Given the description of an element on the screen output the (x, y) to click on. 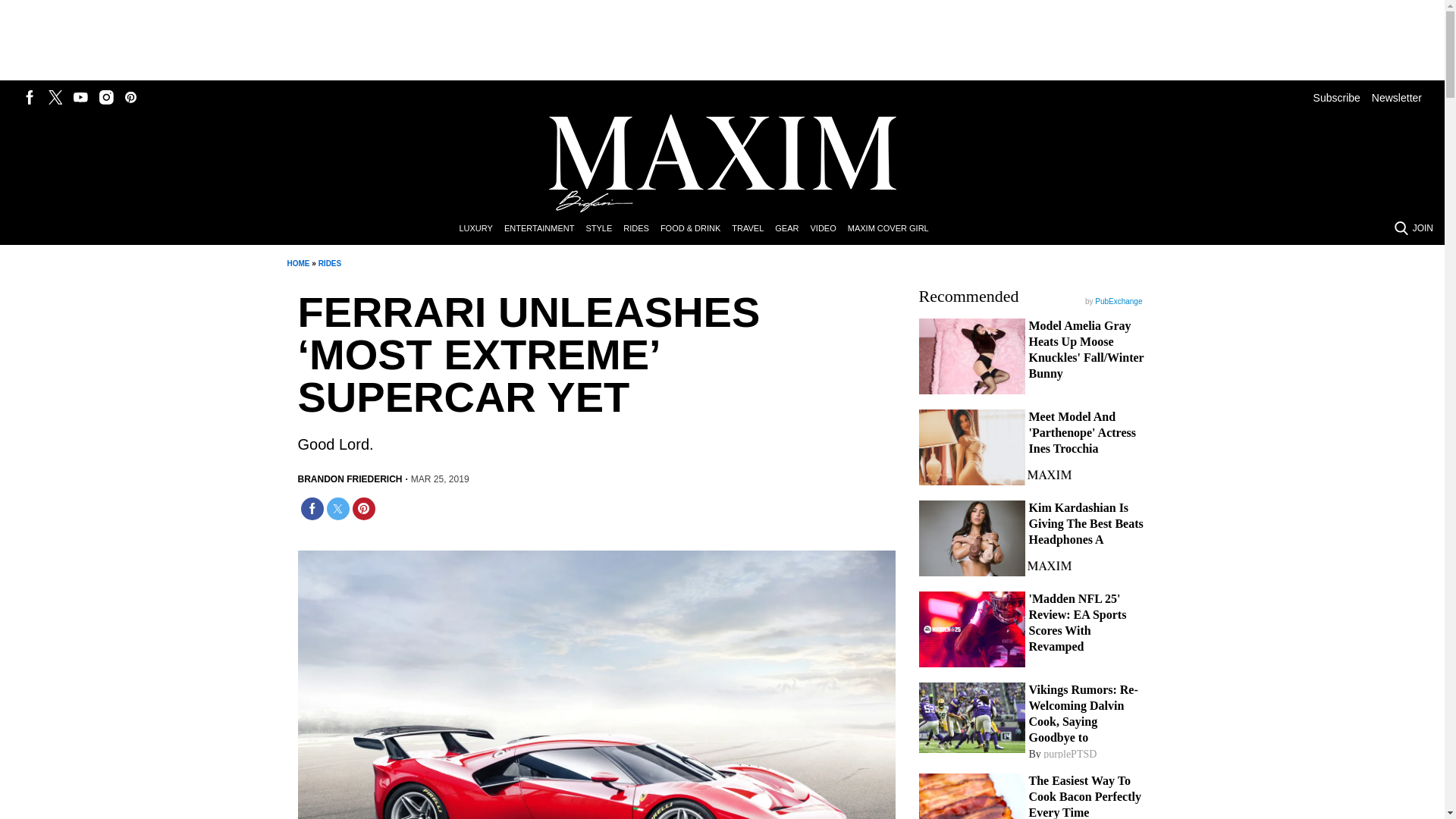
Share on Twitter (337, 508)
TRAVEL (753, 228)
Subscribe (1336, 97)
Follow us on Instagram (106, 97)
Newsletter (1396, 97)
VIDEO (828, 228)
HOME (297, 263)
RIDES (642, 228)
ENTERTAINMENT (544, 228)
LUXURY (480, 228)
